Given the description of an element on the screen output the (x, y) to click on. 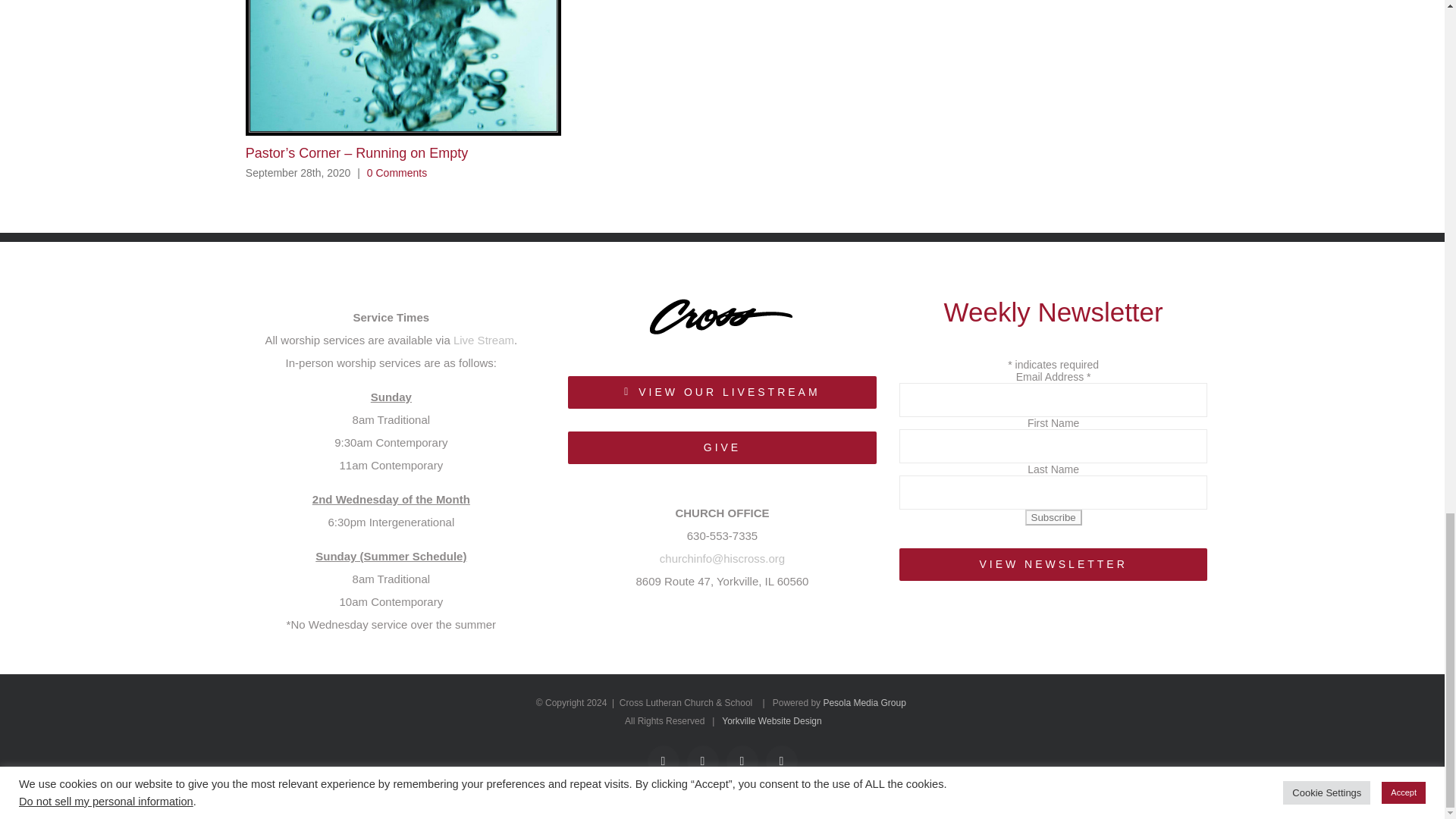
Subscribe (1053, 517)
